Given the description of an element on the screen output the (x, y) to click on. 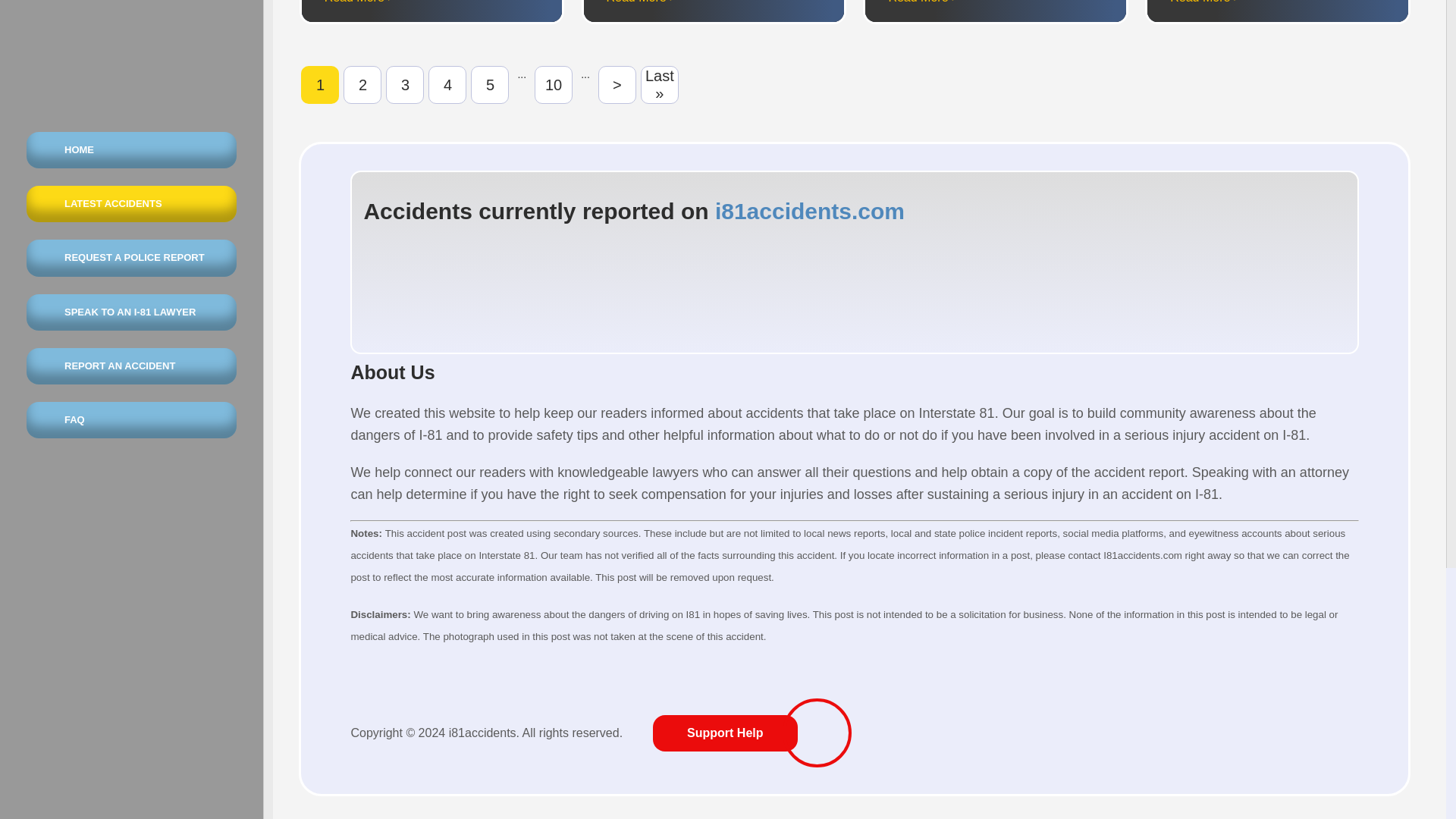
Page 4 (446, 85)
2 (362, 85)
10 (553, 85)
Page 3 (404, 85)
5 (489, 85)
Page 5 (489, 85)
Page 2 (362, 85)
3 (404, 85)
Page 10 (553, 85)
i81accidents.com (809, 211)
